Given the description of an element on the screen output the (x, y) to click on. 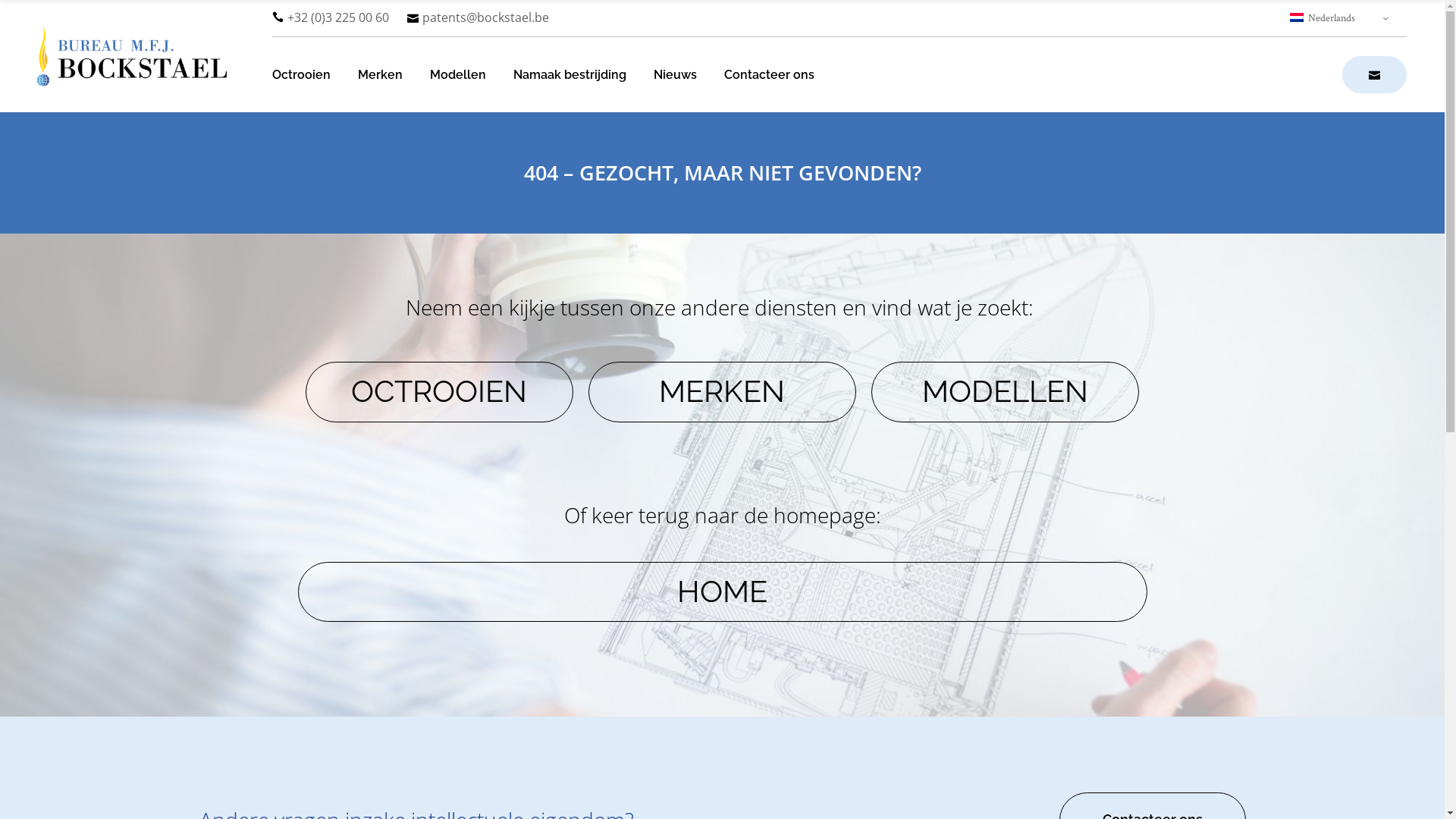
Nieuws Element type: text (674, 74)
Contacteer ons Element type: text (768, 74)
Modellen Element type: text (457, 74)
Octrooien Element type: text (300, 74)
MERKEN Element type: text (722, 391)
Nederlands Element type: text (1340, 18)
OCTROOIEN Element type: text (438, 391)
HOME Element type: text (721, 591)
patents@bockstael.be Element type: text (477, 16)
MODELLEN Element type: text (1005, 391)
+32 (0)3 225 00 60 Element type: text (329, 16)
Merken Element type: text (379, 74)
Namaak bestrijding Element type: text (568, 74)
